Given the description of an element on the screen output the (x, y) to click on. 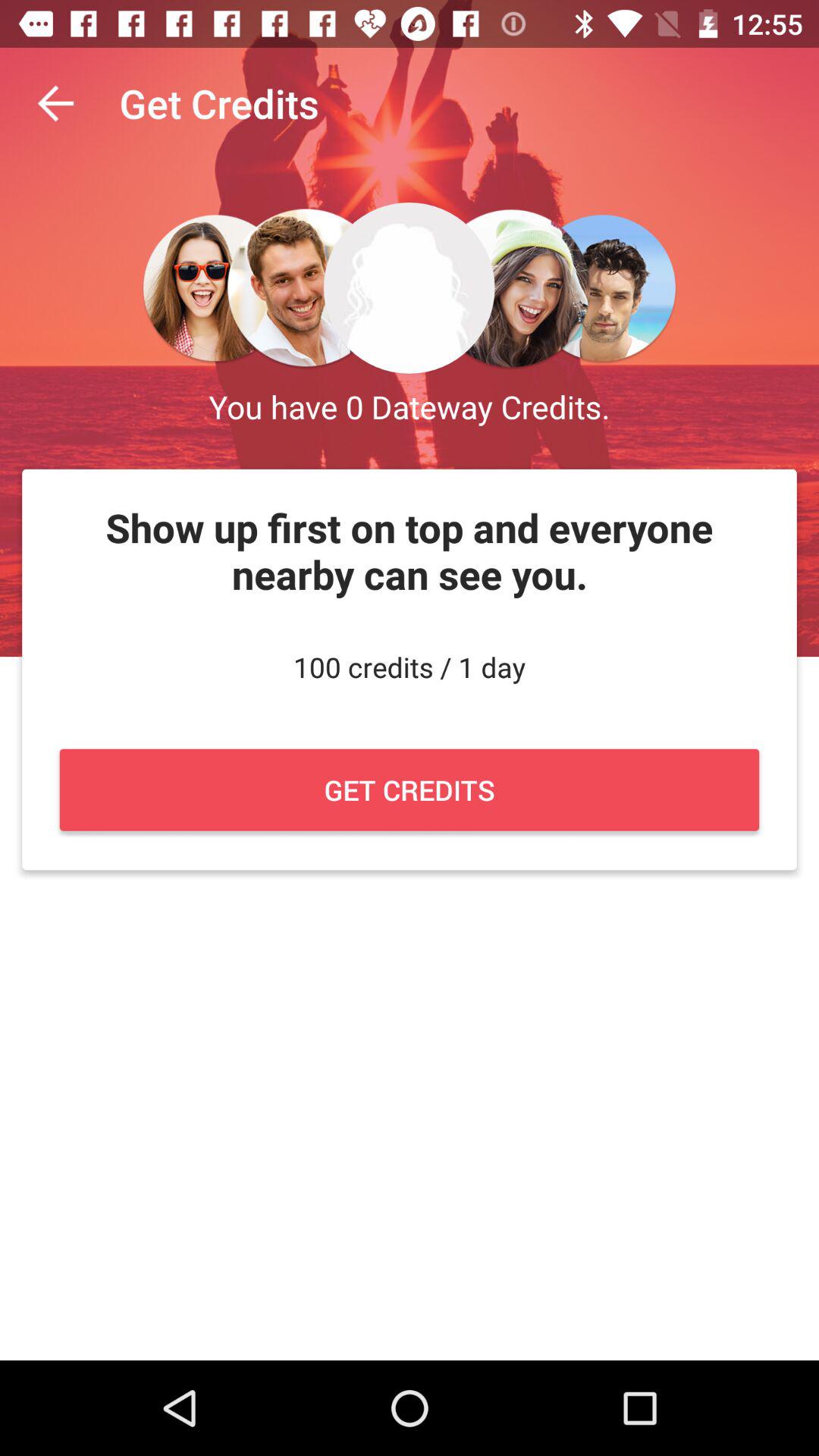
click on middle image (409, 288)
tap on the button named as get credits (409, 789)
